Given the description of an element on the screen output the (x, y) to click on. 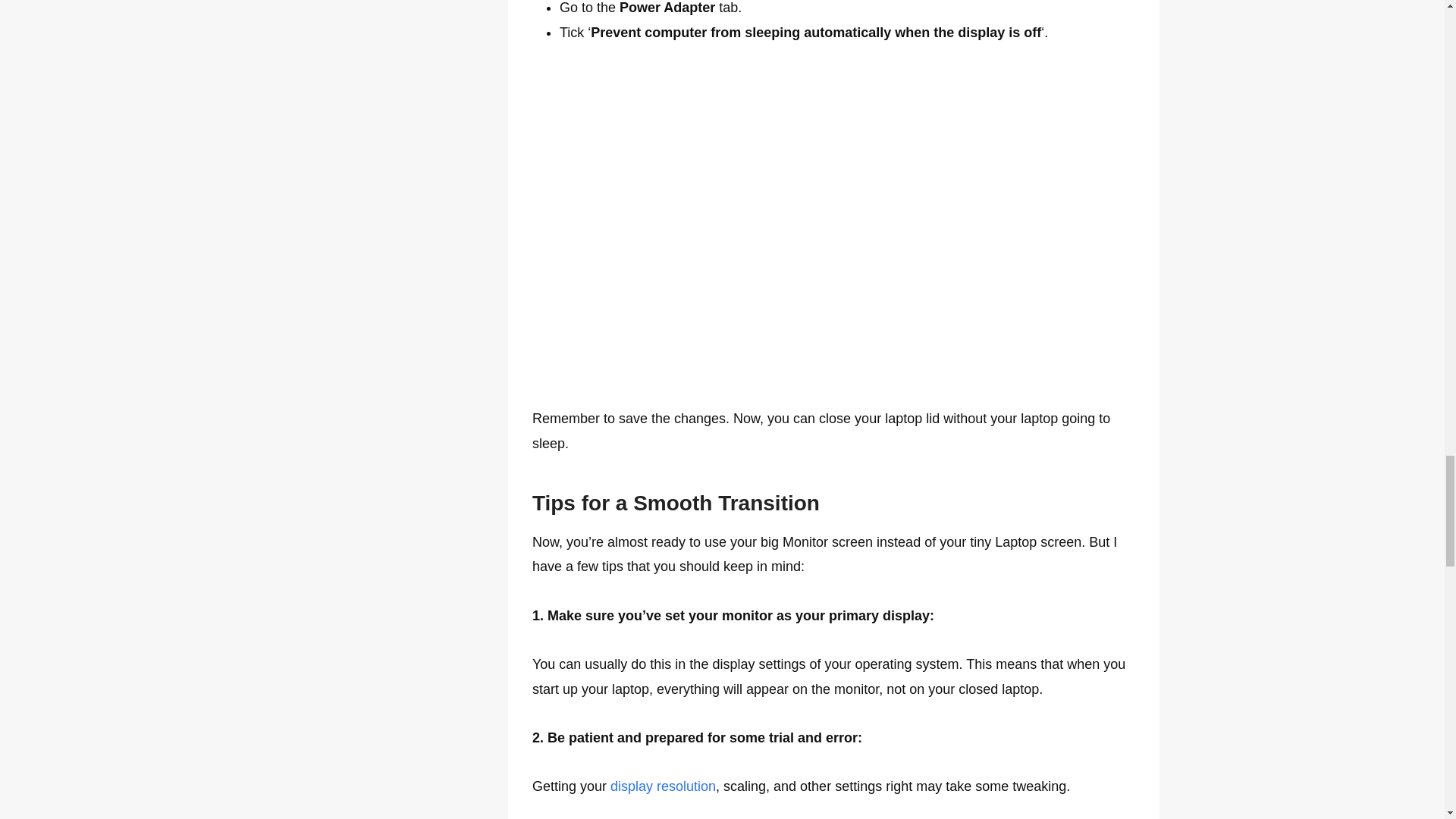
display resolution (663, 785)
